Given the description of an element on the screen output the (x, y) to click on. 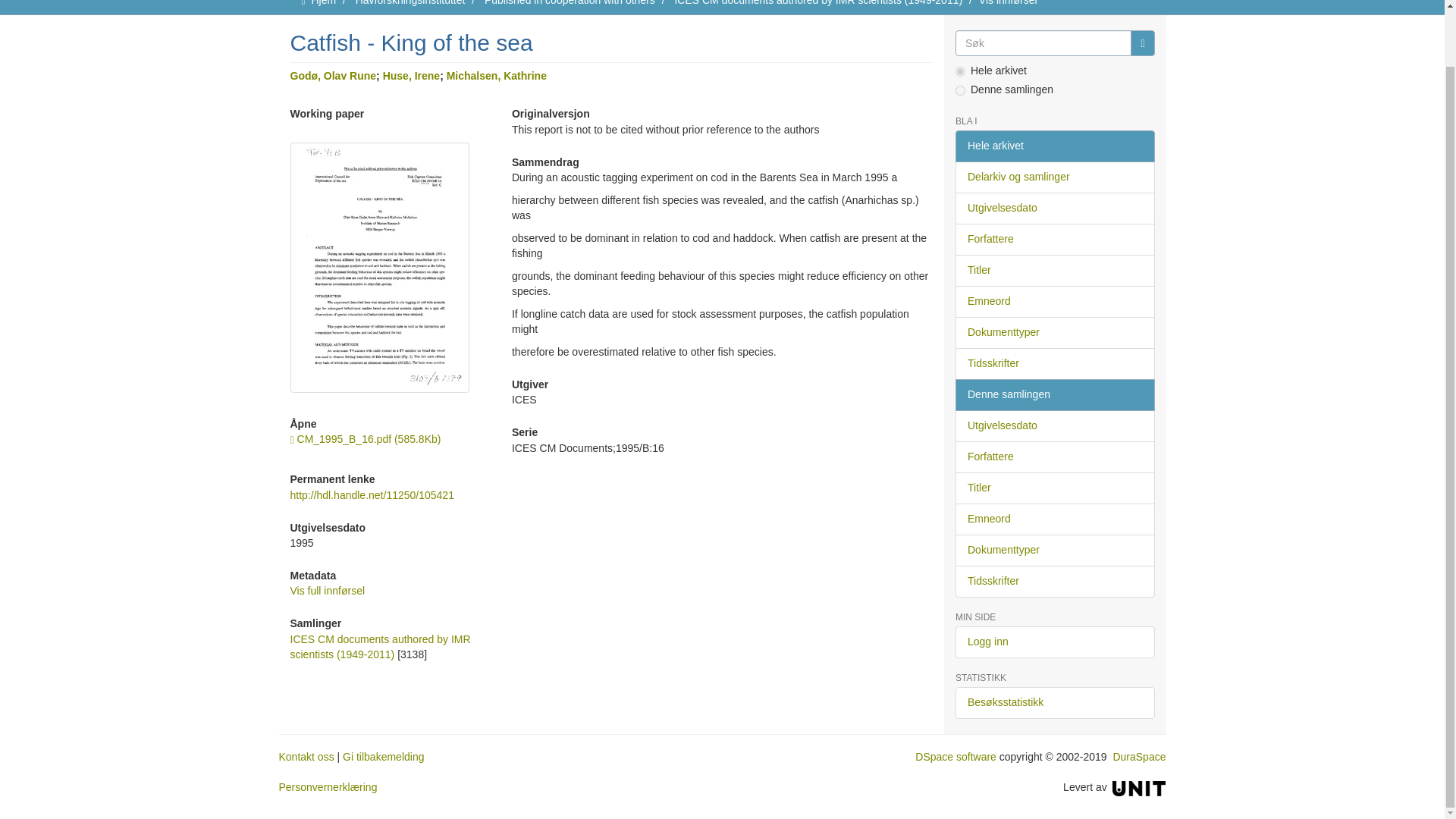
Published in cooperation with others (569, 2)
Havforskningsinstituttet (410, 2)
Delarkiv og samlinger (1054, 177)
Hjem (323, 2)
Michalsen, Kathrine (496, 75)
Unit (1139, 787)
Hele arkivet (1054, 146)
Utgivelsesdato (1054, 208)
Forfattere (1054, 239)
Huse, Irene (410, 75)
